Given the description of an element on the screen output the (x, y) to click on. 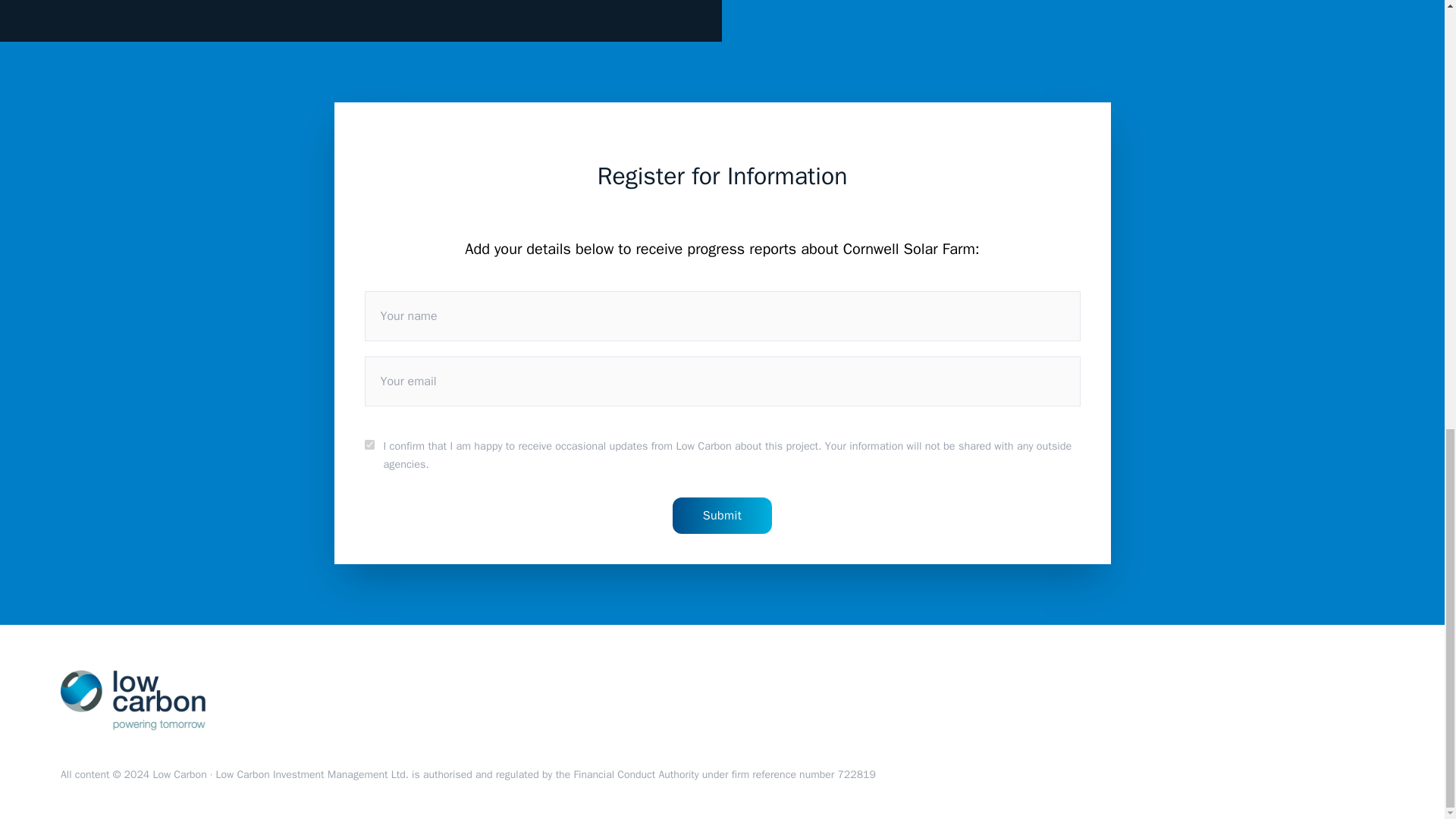
Submit (722, 515)
on (369, 444)
